Given the description of an element on the screen output the (x, y) to click on. 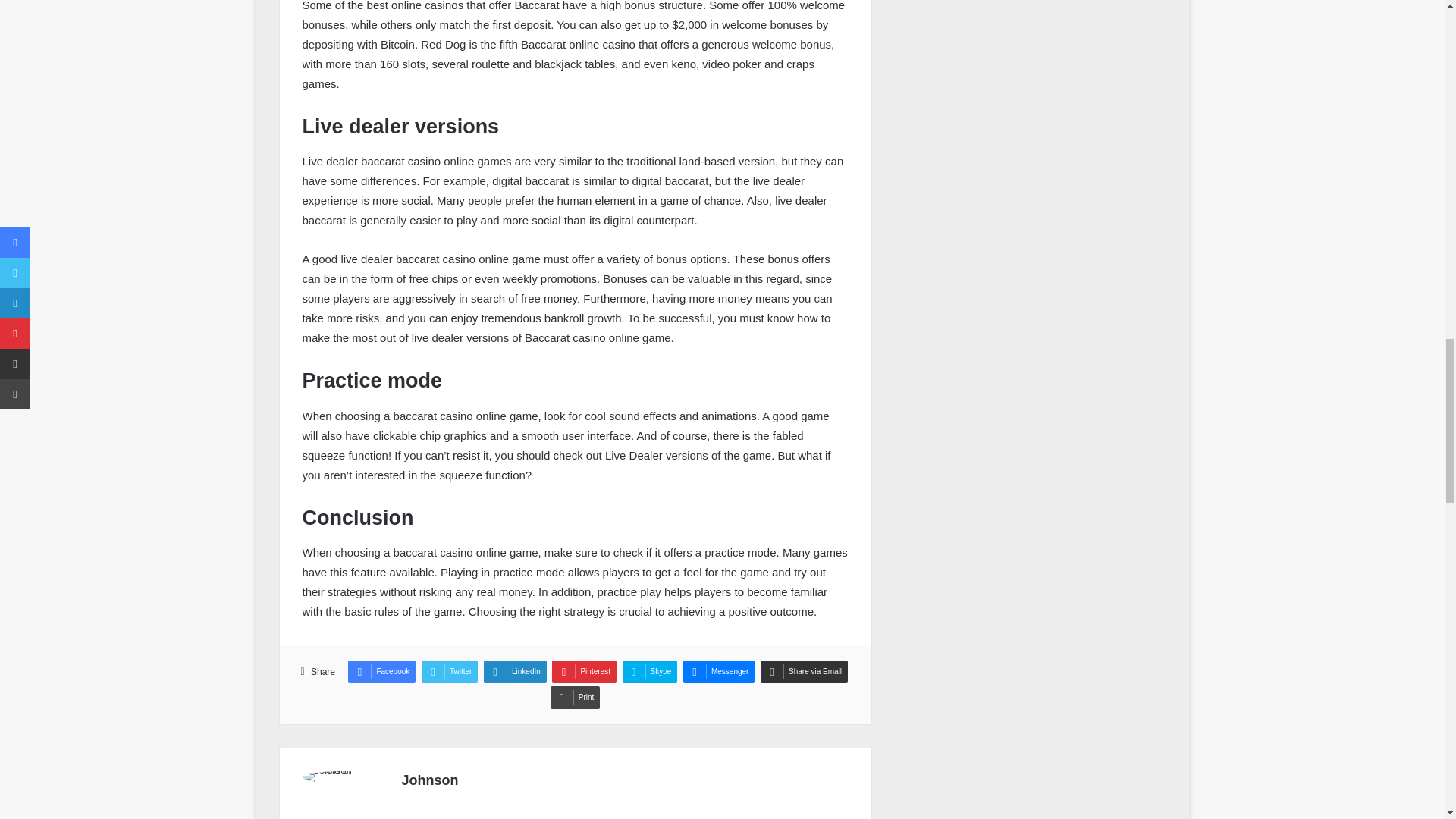
Pinterest (583, 671)
Facebook (380, 671)
LinkedIn (515, 671)
Facebook (380, 671)
Twitter (449, 671)
Twitter (449, 671)
Print (574, 697)
Messenger (718, 671)
Skype (650, 671)
Share via Email (803, 671)
